Given the description of an element on the screen output the (x, y) to click on. 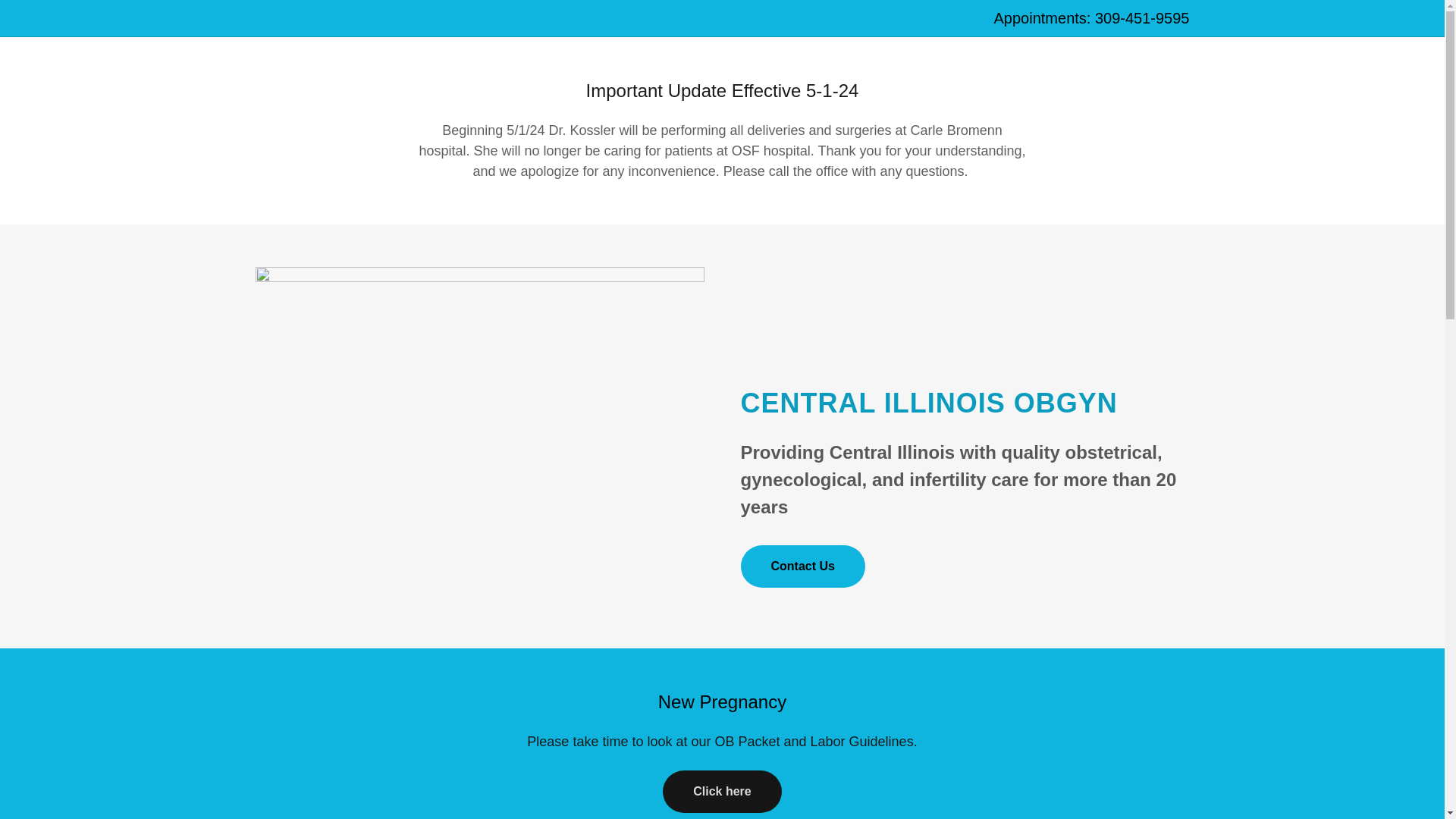
Click here (721, 791)
Contact Us (801, 566)
309-451-9595 (1141, 17)
